Given the description of an element on the screen output the (x, y) to click on. 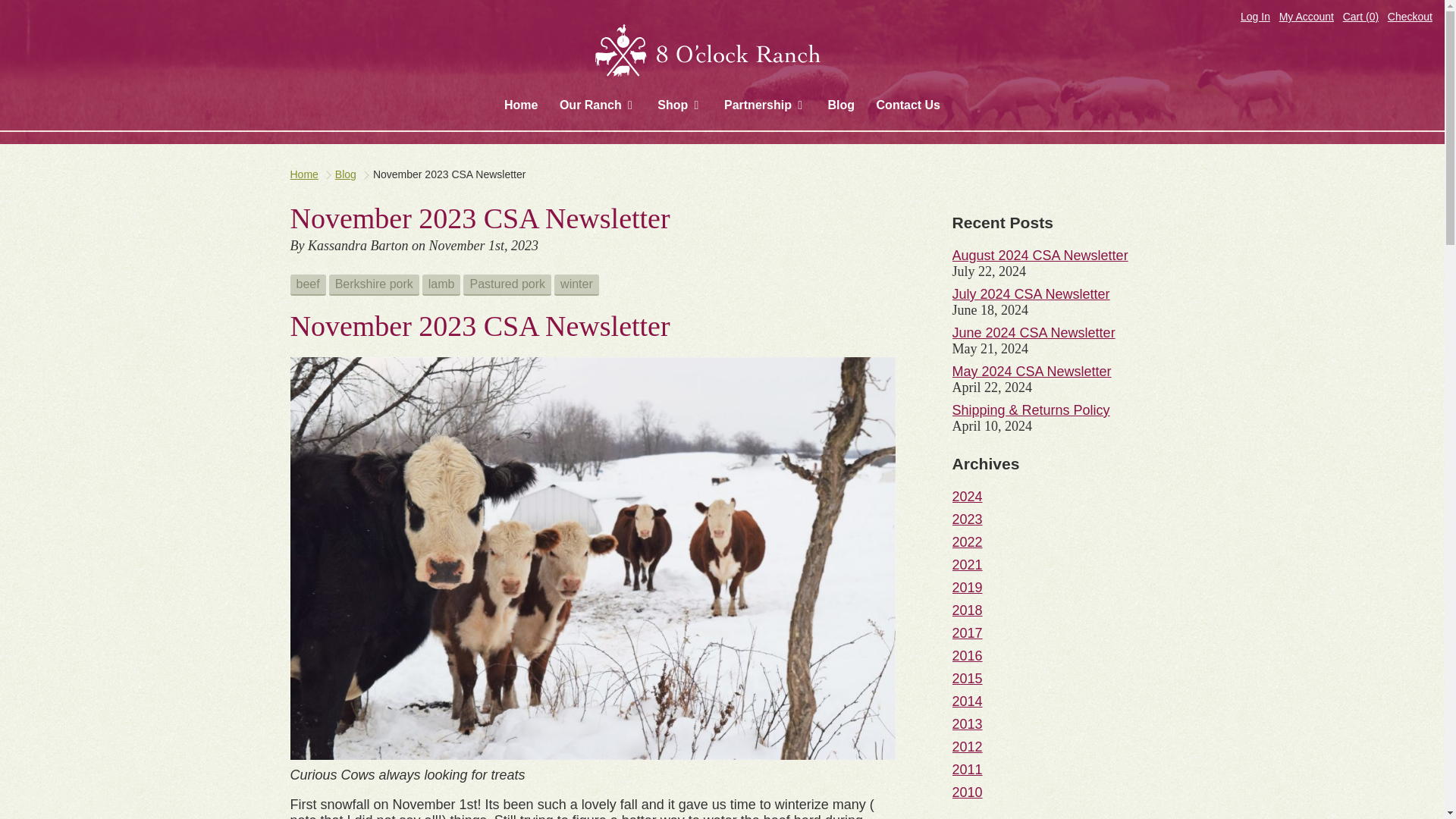
Blog (841, 104)
Log In (1254, 16)
Partnership (764, 104)
My Account (1306, 16)
Checkout (1409, 16)
Home (303, 174)
November 2023 CSA Newsletter (448, 174)
8 O'clock Ranch (721, 52)
Our Ranch (597, 104)
Contact Us (908, 104)
